Given the description of an element on the screen output the (x, y) to click on. 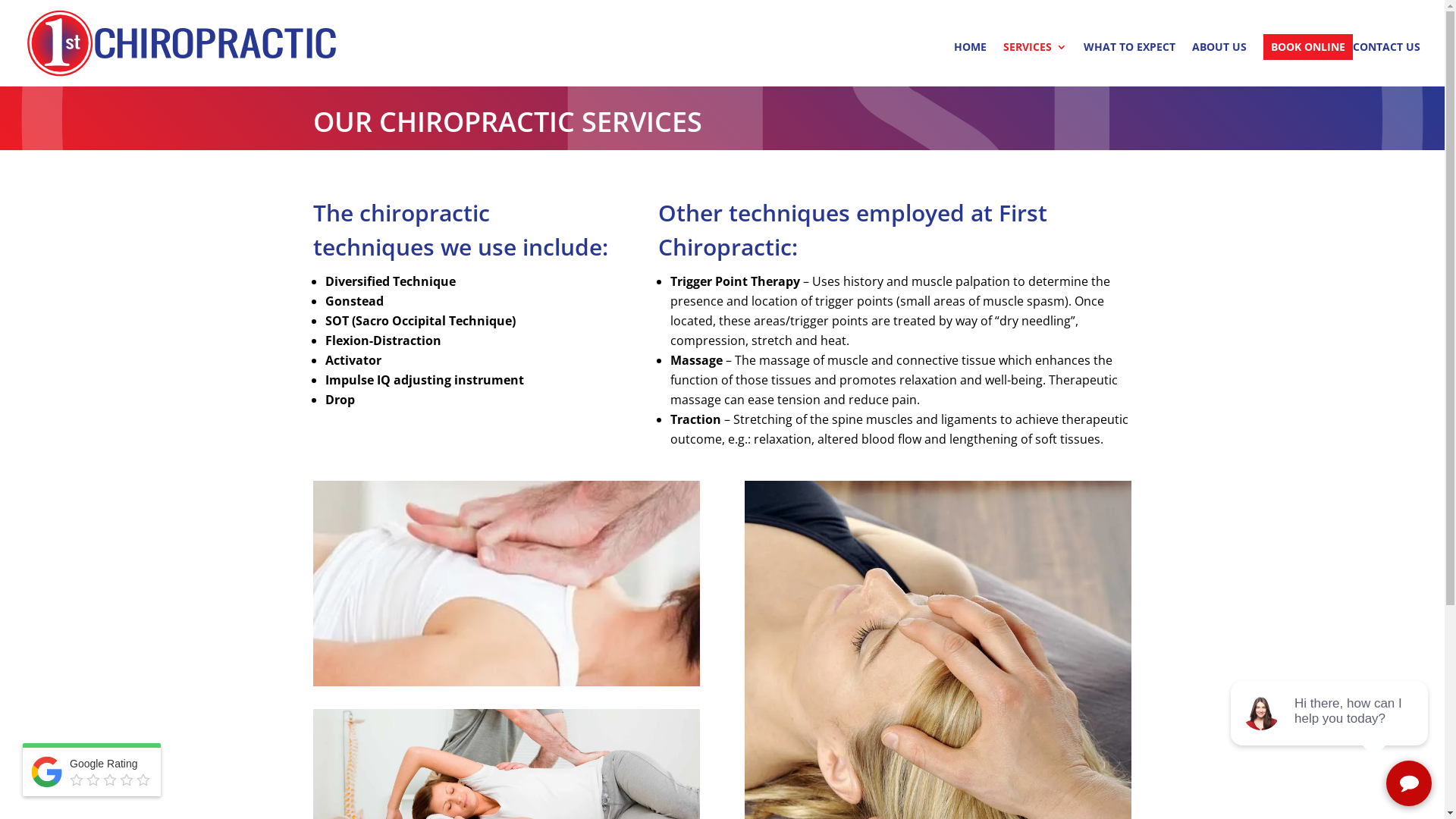
WHAT TO EXPECT Element type: text (1129, 63)
BOOK ONLINE Element type: text (1307, 46)
SERVICES Element type: text (1034, 63)
HOME Element type: text (969, 63)
DiversifiedTechnique Element type: hover (505, 583)
CONTACT US Element type: text (1386, 63)
ABOUT US Element type: text (1219, 63)
